Given the description of an element on the screen output the (x, y) to click on. 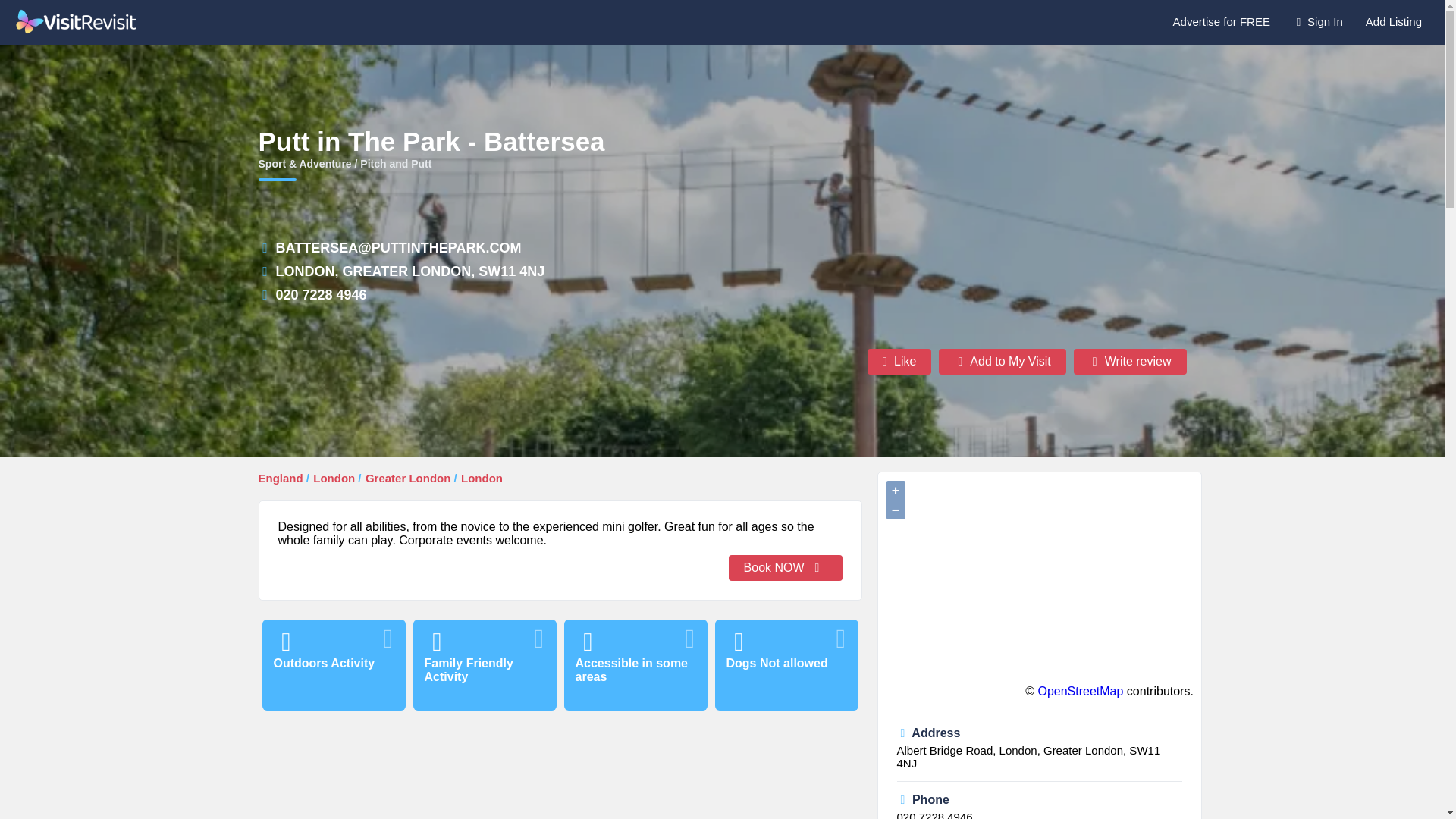
Like (899, 361)
Advertisement (559, 774)
Greater London (408, 477)
Albert Bridge Road, London, Greater London, SW11 4NJ (1028, 756)
Zoom out (894, 509)
Zoom in (894, 489)
Book NOW   (786, 567)
London (481, 477)
Advertise for FREE (1221, 21)
London (334, 477)
